Given the description of an element on the screen output the (x, y) to click on. 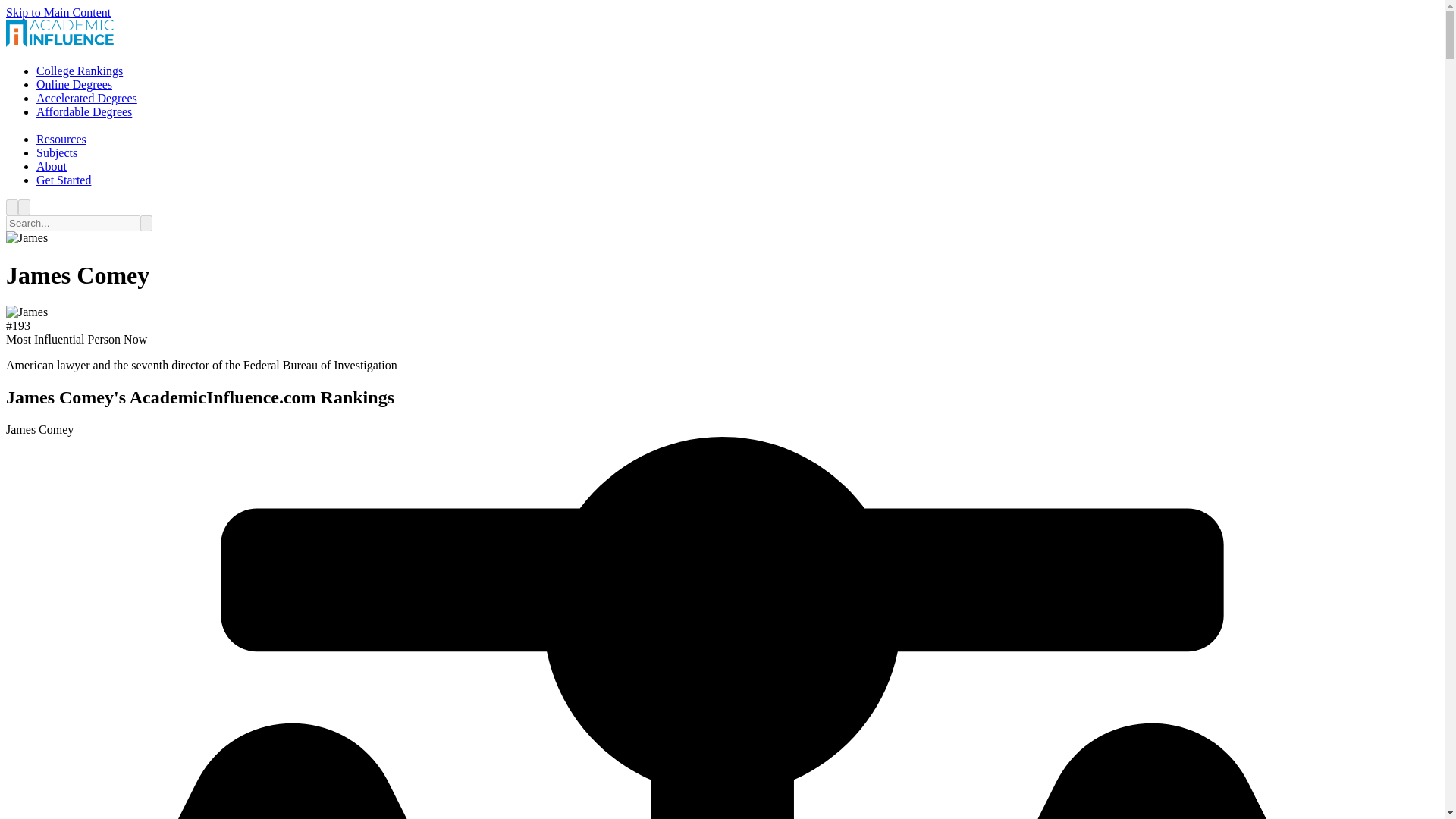
Resources (60, 138)
Affordable Degrees (84, 111)
About (51, 165)
Accelerated Degrees (86, 97)
Skip to Main Content (57, 11)
Subjects (56, 152)
Online Degrees (74, 83)
Get Started (63, 179)
College Rankings (79, 70)
